Given the description of an element on the screen output the (x, y) to click on. 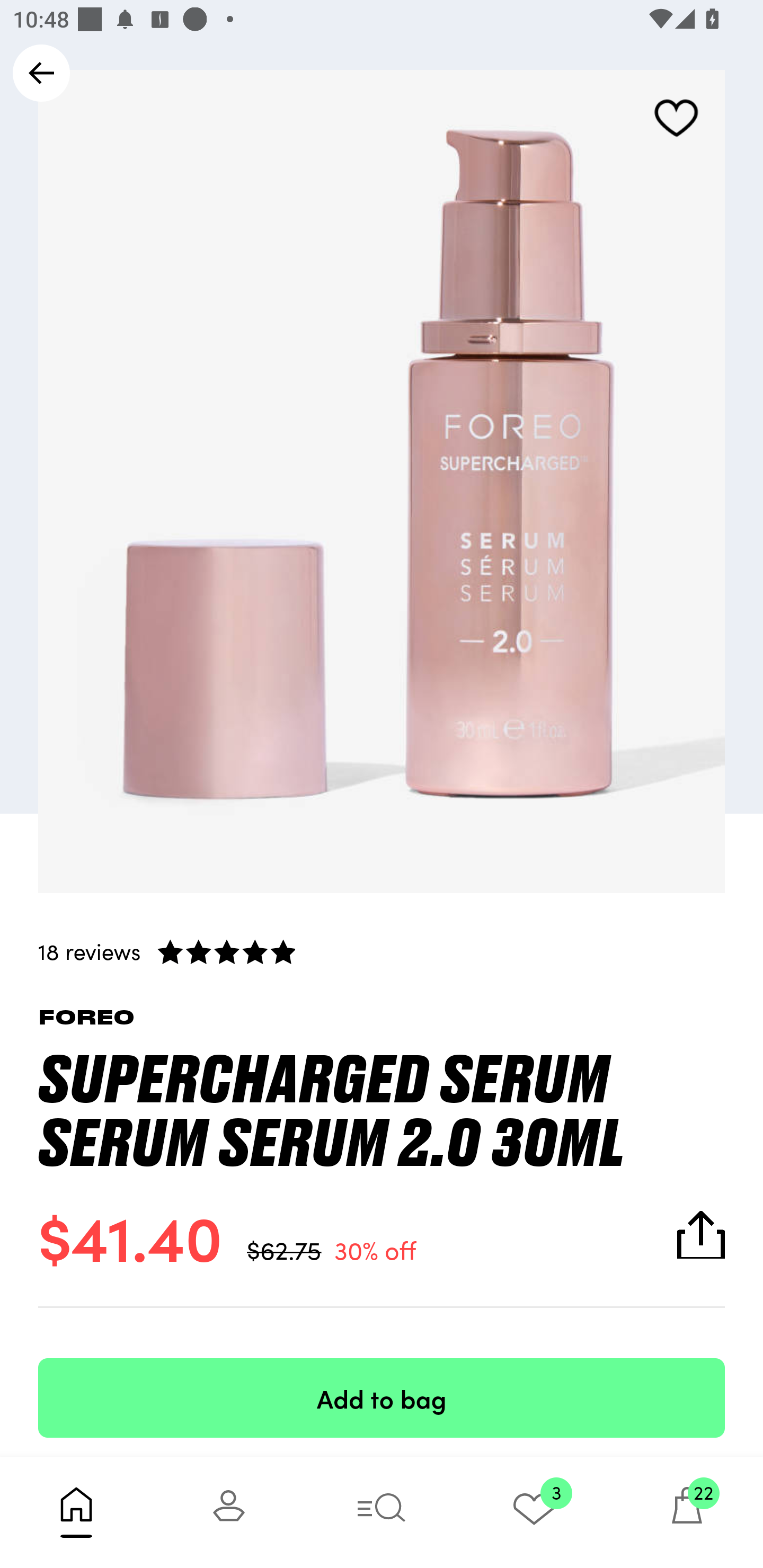
18 reviews (381, 950)
Add to bag (381, 1397)
3 (533, 1512)
22 (686, 1512)
